Given the description of an element on the screen output the (x, y) to click on. 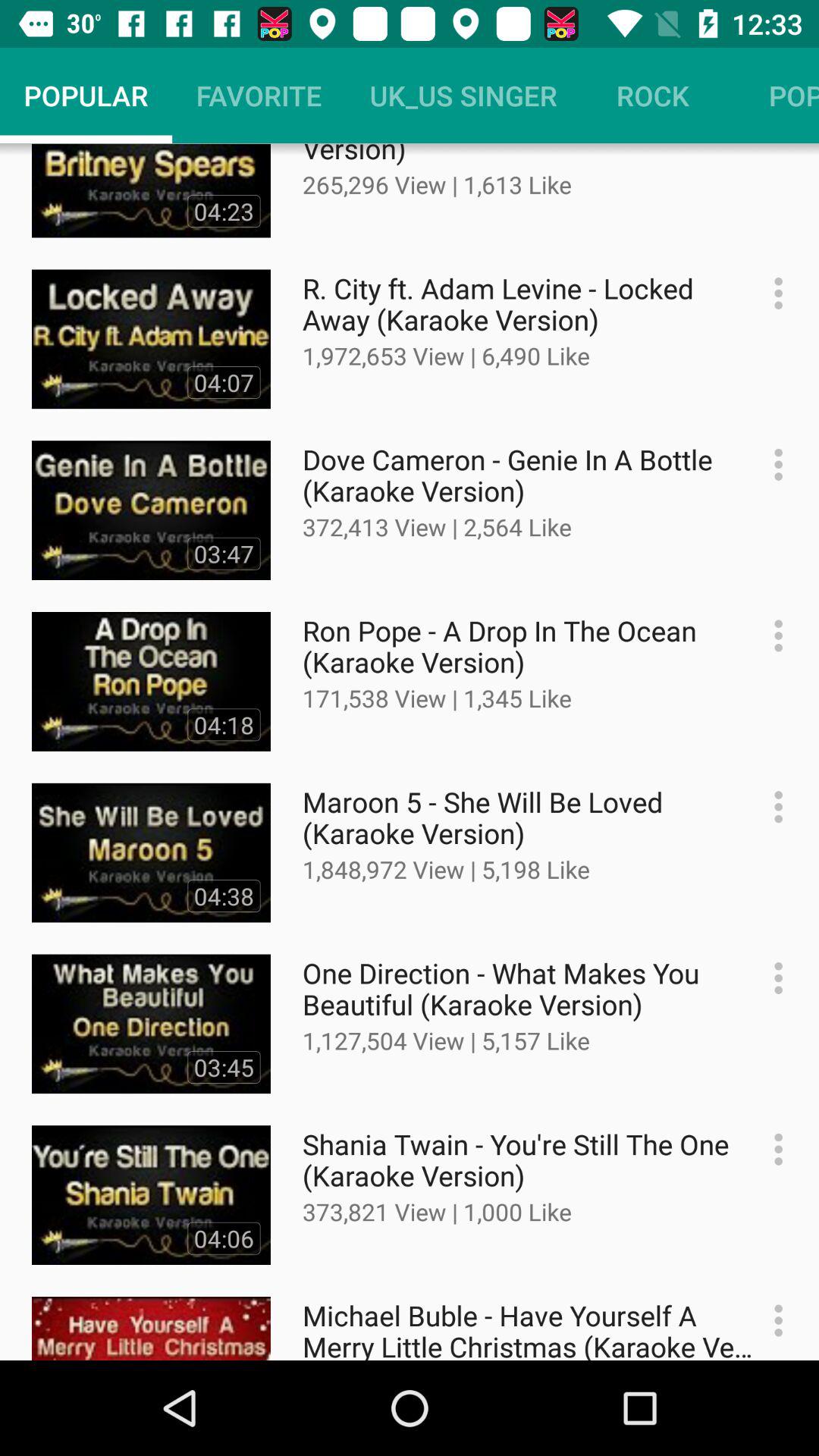
more options (770, 635)
